Given the description of an element on the screen output the (x, y) to click on. 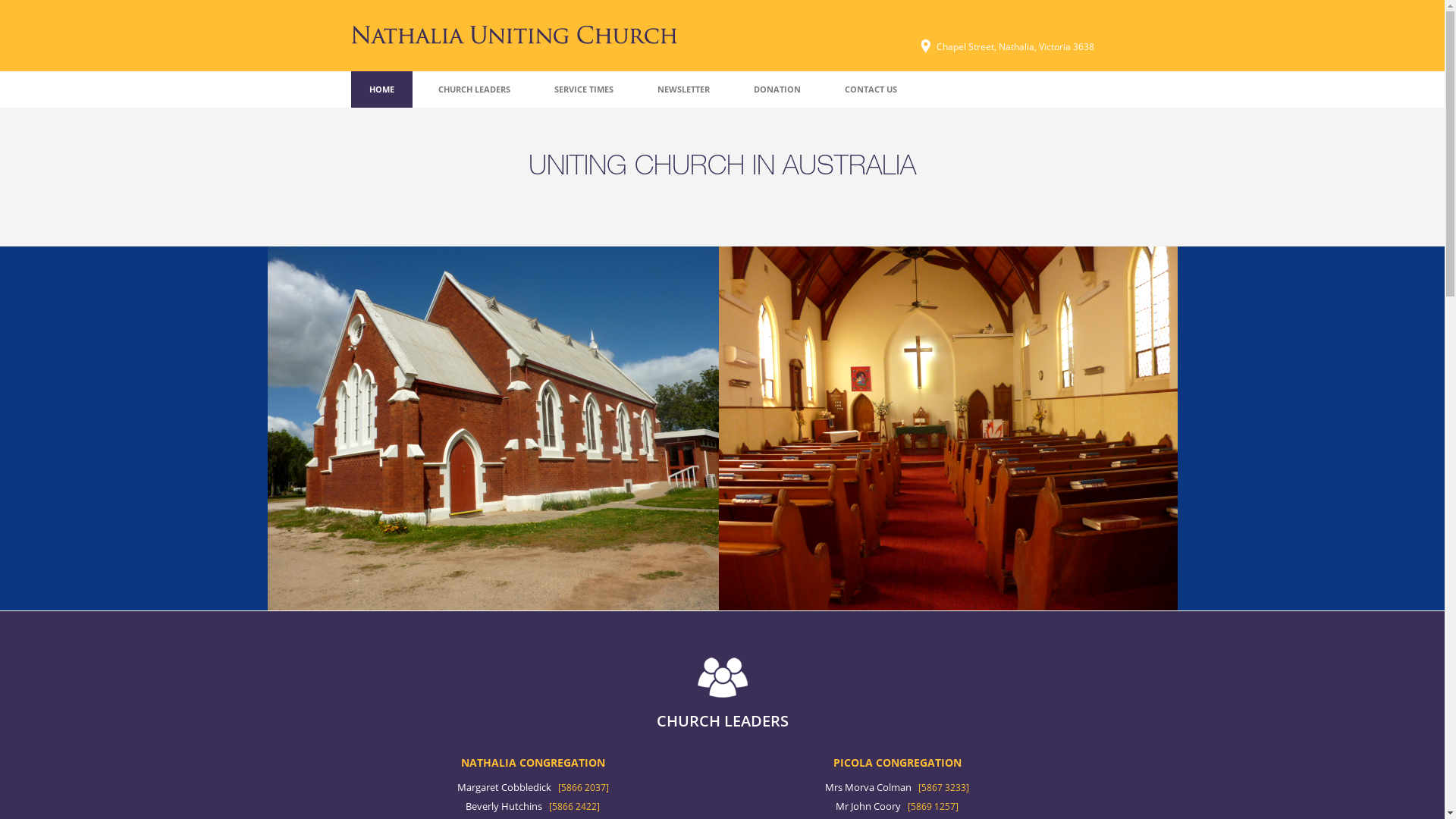
DONATION Element type: text (777, 89)
HOME Element type: text (380, 89)
SERVICE TIMES Element type: text (582, 89)
CONTACT US Element type: text (870, 89)
NEWSLETTER Element type: text (682, 89)
CHURCH LEADERS Element type: text (474, 89)
